Given the description of an element on the screen output the (x, y) to click on. 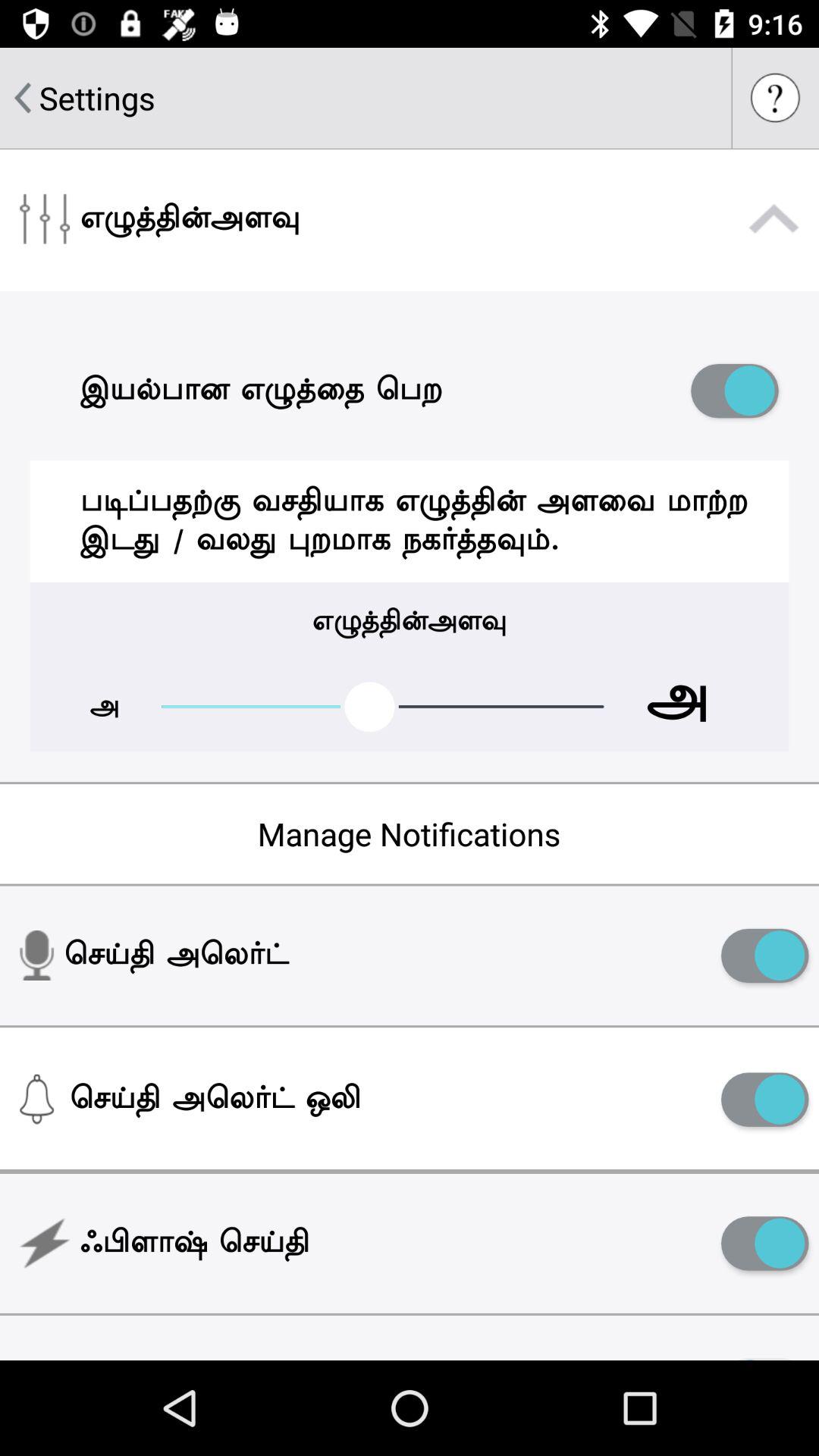
select item to the left of settings item (22, 97)
